Given the description of an element on the screen output the (x, y) to click on. 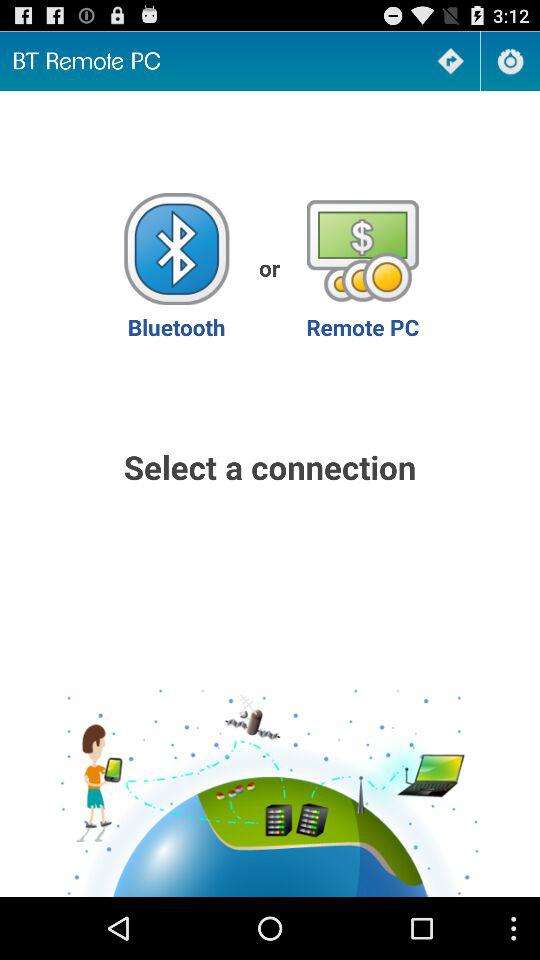
go next page (450, 60)
